Given the description of an element on the screen output the (x, y) to click on. 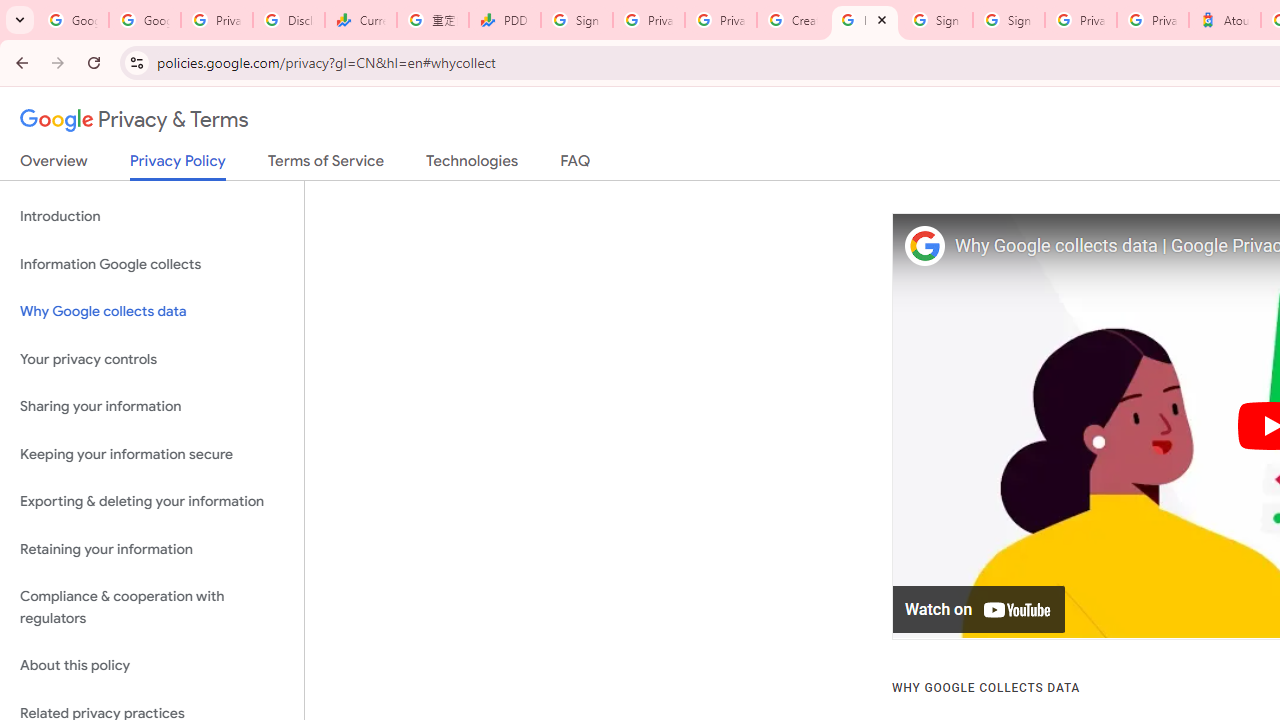
Currencies - Google Finance (360, 20)
Google Workspace Admin Community (72, 20)
Watch on YouTube (979, 610)
Photo image of Google (924, 246)
